Given the description of an element on the screen output the (x, y) to click on. 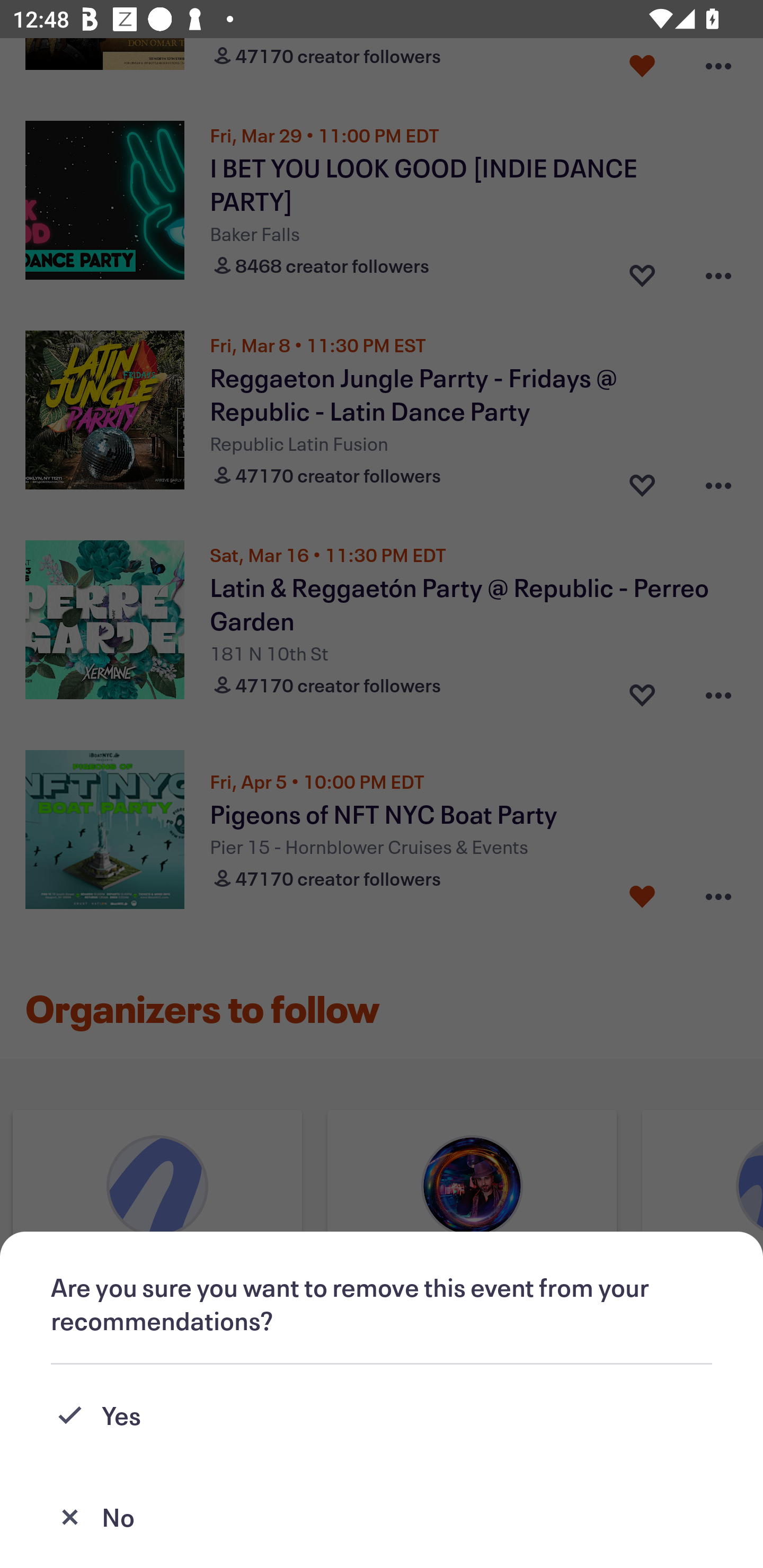
Yes (381, 1415)
No (381, 1517)
